Given the description of an element on the screen output the (x, y) to click on. 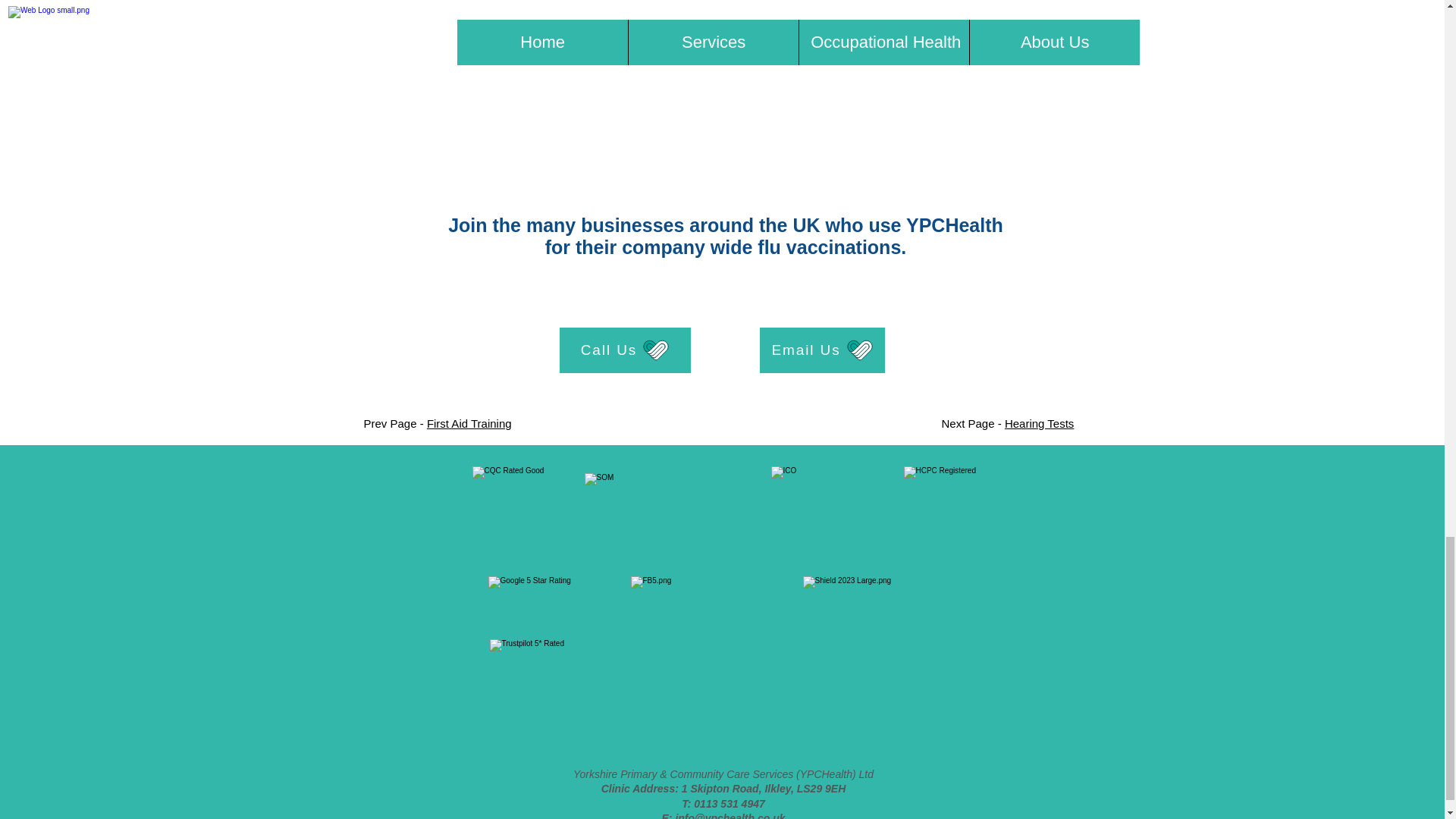
HCPC Regisered (949, 512)
Email Us (822, 350)
Call Us (624, 350)
First Aid Training (469, 422)
Hearing Tests (1039, 422)
ICO Registered (821, 512)
Supporting Occupational Health and Wellbeing Professionals (662, 511)
What Clinic Award 2023 (888, 654)
CQC Inspected and rated Good (516, 511)
